Given the description of an element on the screen output the (x, y) to click on. 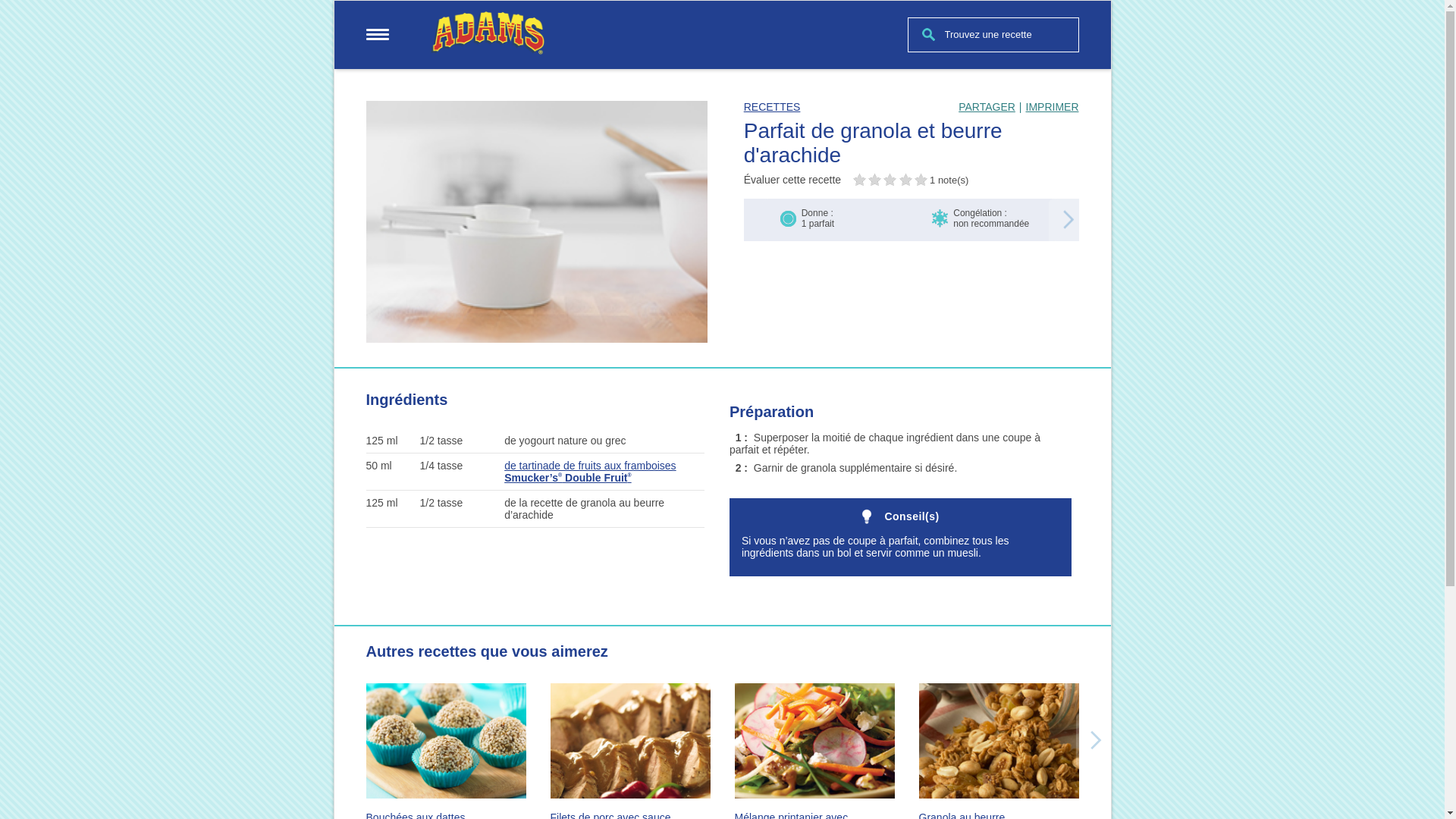
prochain Element type: hover (1067, 219)
prochain Element type: hover (1095, 739)
Menu Element type: hover (376, 34)
PARTAGER Element type: text (986, 106)
RECETTES Element type: text (771, 106)
Accueil Element type: hover (487, 35)
IMPRIMER Element type: text (1051, 106)
